Given the description of an element on the screen output the (x, y) to click on. 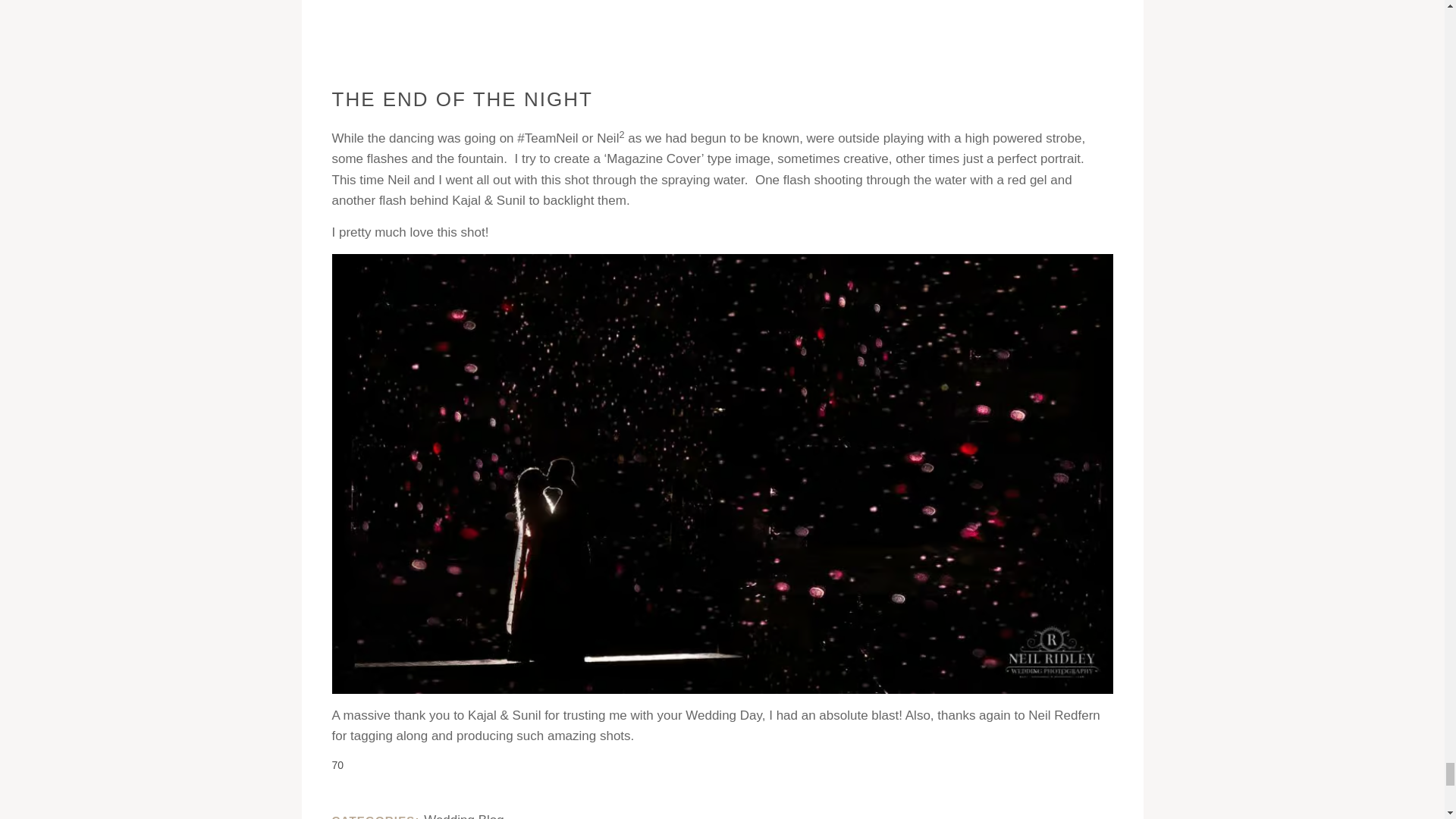
Wedding Blog (463, 816)
